Given the description of an element on the screen output the (x, y) to click on. 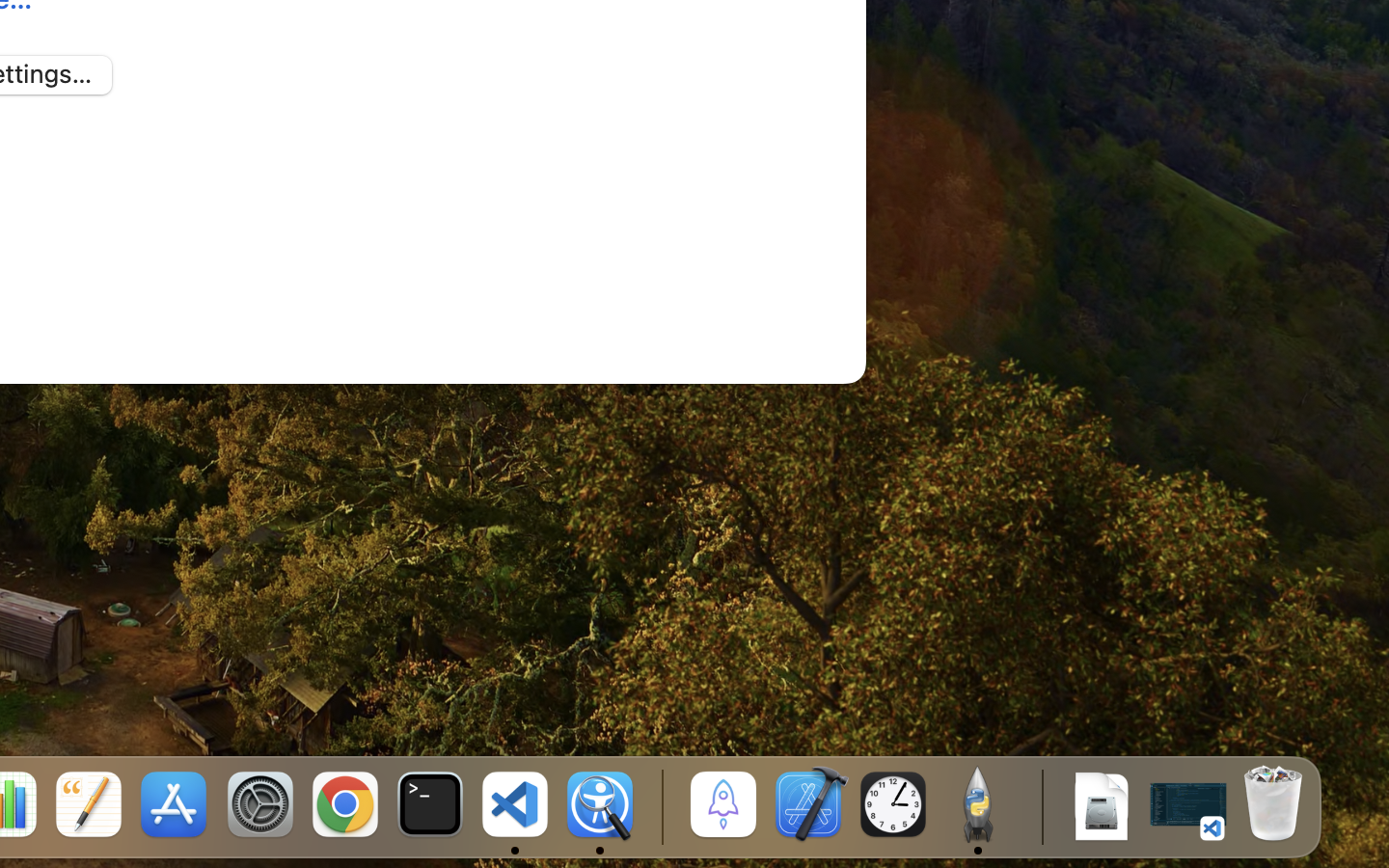
0.4285714328289032 Element type: AXDockItem (660, 805)
